Given the description of an element on the screen output the (x, y) to click on. 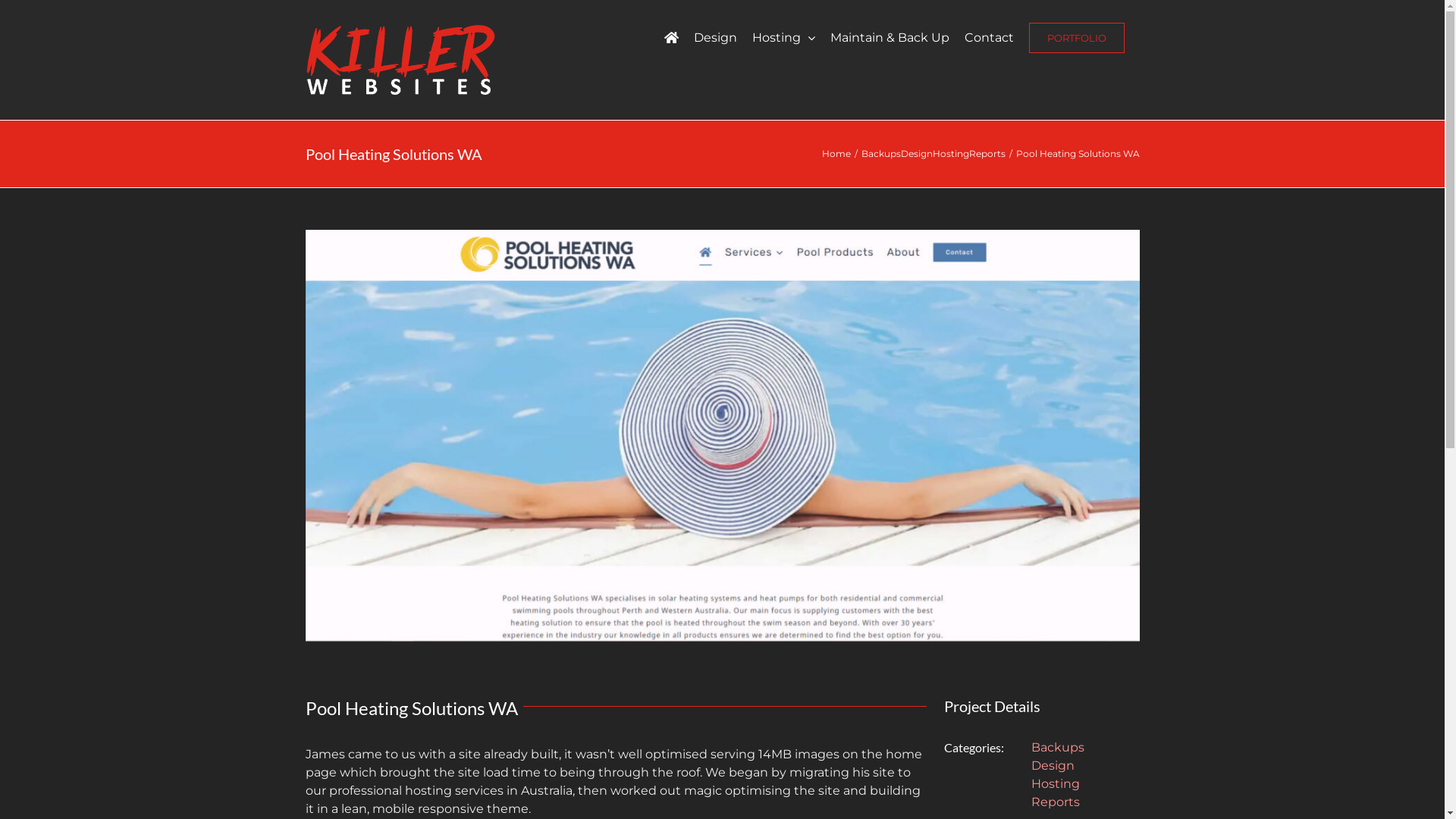
View Larger Image Element type: text (721, 435)
Backups Element type: text (1057, 747)
Hosting Element type: text (950, 153)
Backups Element type: text (880, 153)
Maintain & Back Up Element type: text (888, 37)
Hosting Element type: text (1055, 783)
Contact Element type: text (988, 37)
Reports Element type: text (1055, 801)
Design Element type: text (1052, 765)
Hosting Element type: text (783, 37)
Home Element type: text (836, 153)
Design Element type: text (714, 37)
Design Element type: text (916, 153)
PORTFOLIO Element type: text (1075, 37)
Reports Element type: text (987, 153)
